Given the description of an element on the screen output the (x, y) to click on. 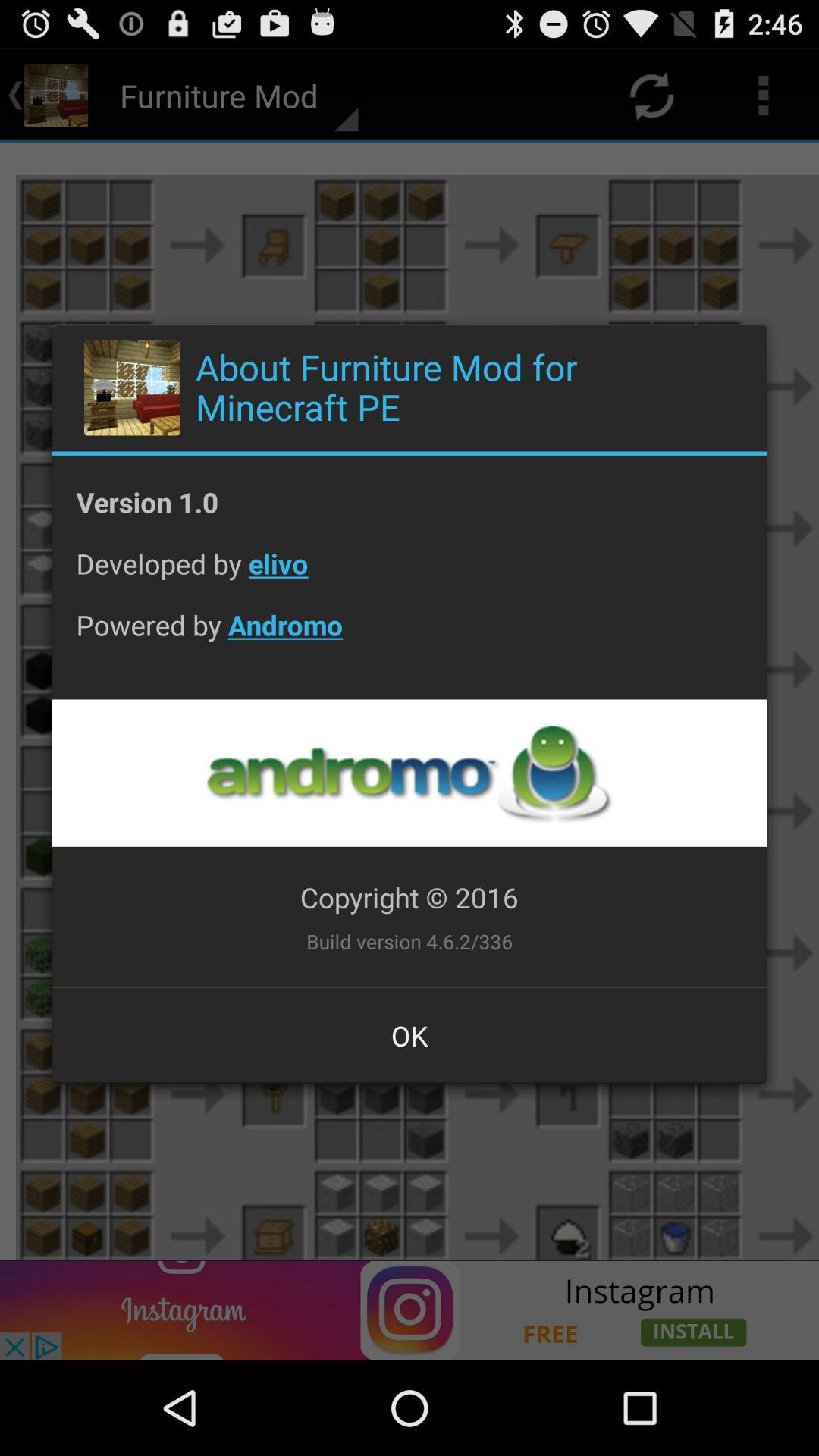
jump to powered by andromo icon (409, 636)
